Given the description of an element on the screen output the (x, y) to click on. 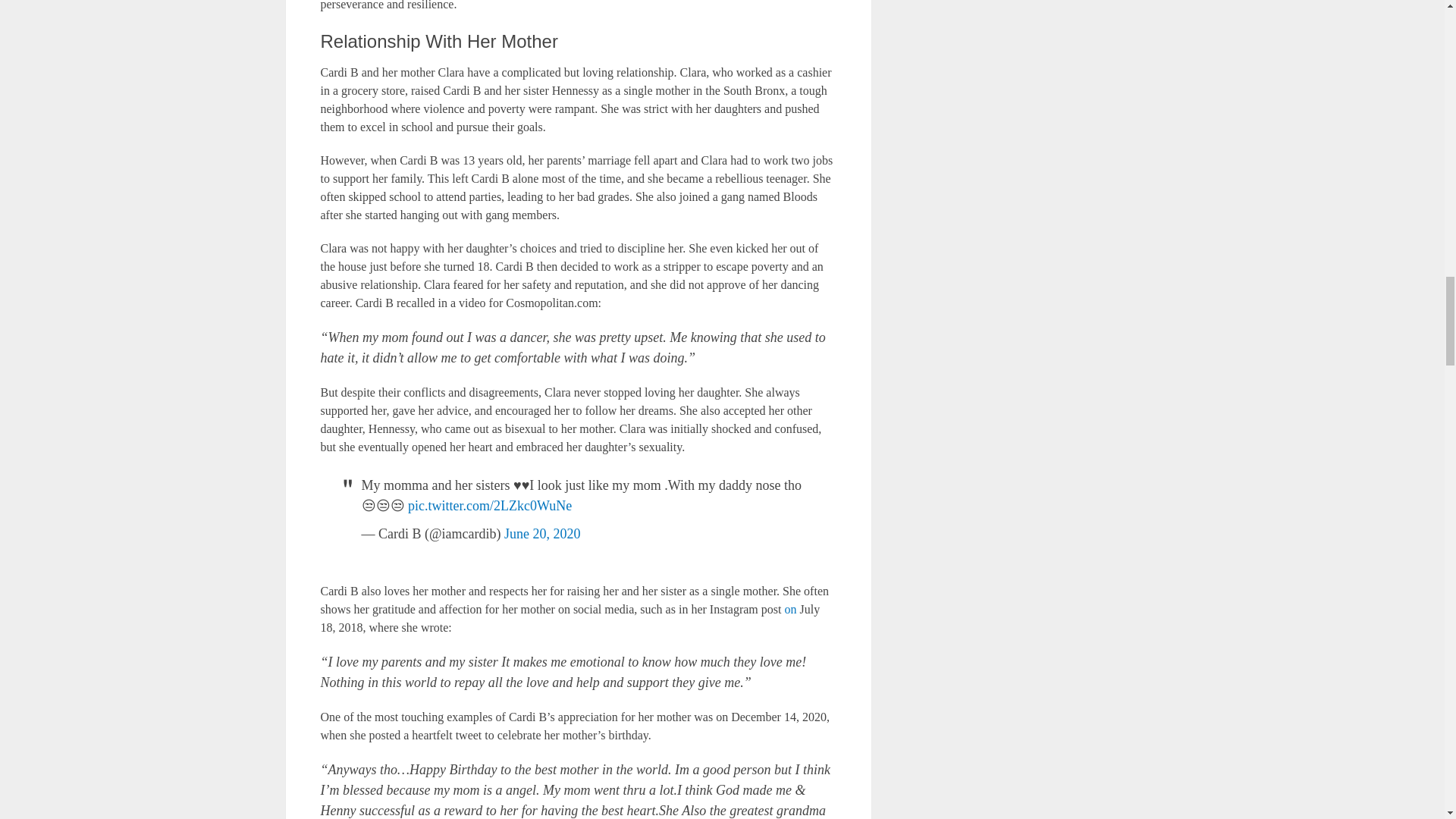
June 20, 2020 (541, 533)
on (790, 608)
